Given the description of an element on the screen output the (x, y) to click on. 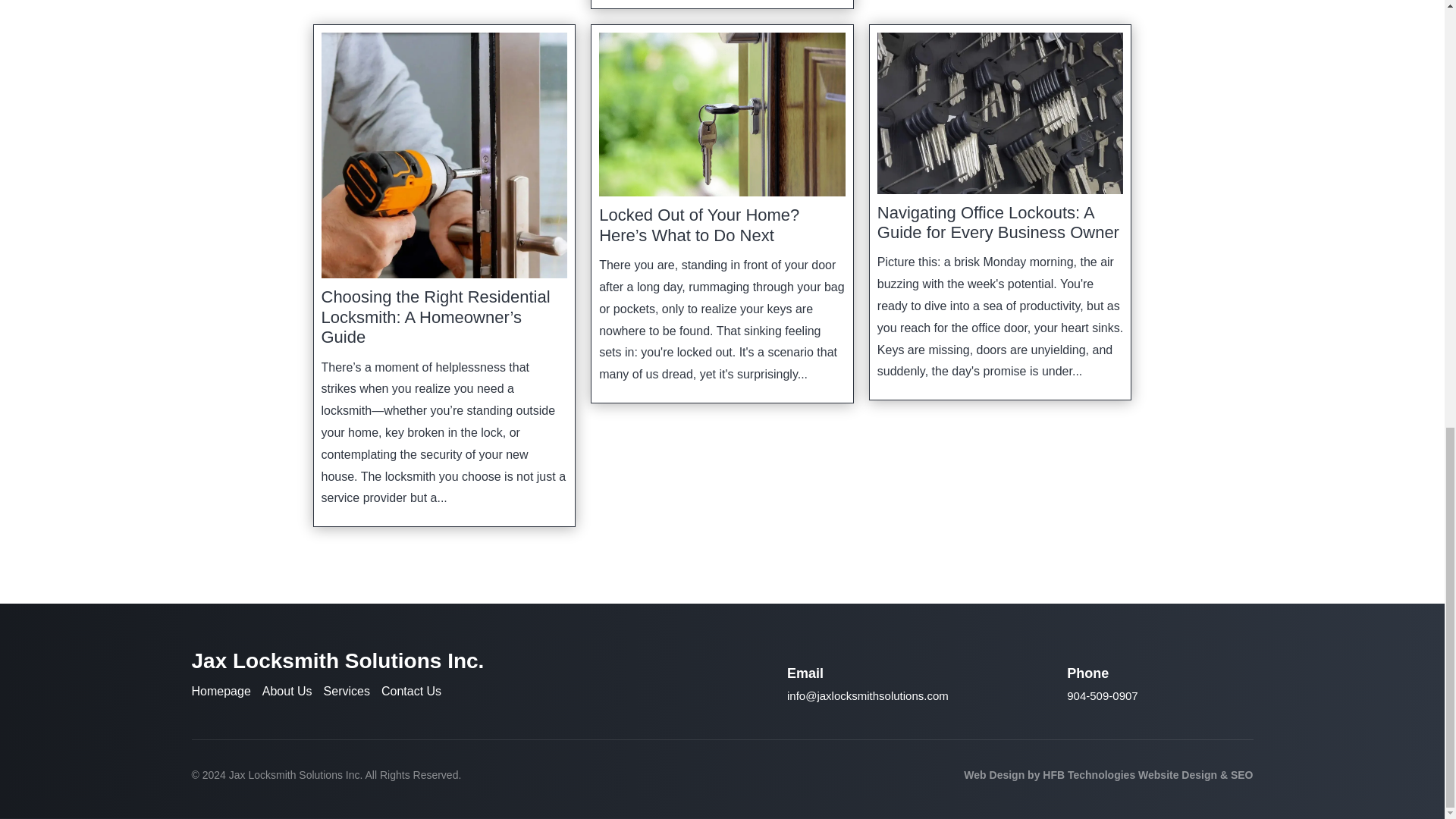
Contact Us (411, 690)
Navigating Office Lockouts: A Guide for Every Business Owner (998, 222)
Homepage (220, 690)
Jax Locksmith Solutions Inc. (293, 775)
Services (346, 690)
About Us (287, 690)
